Given the description of an element on the screen output the (x, y) to click on. 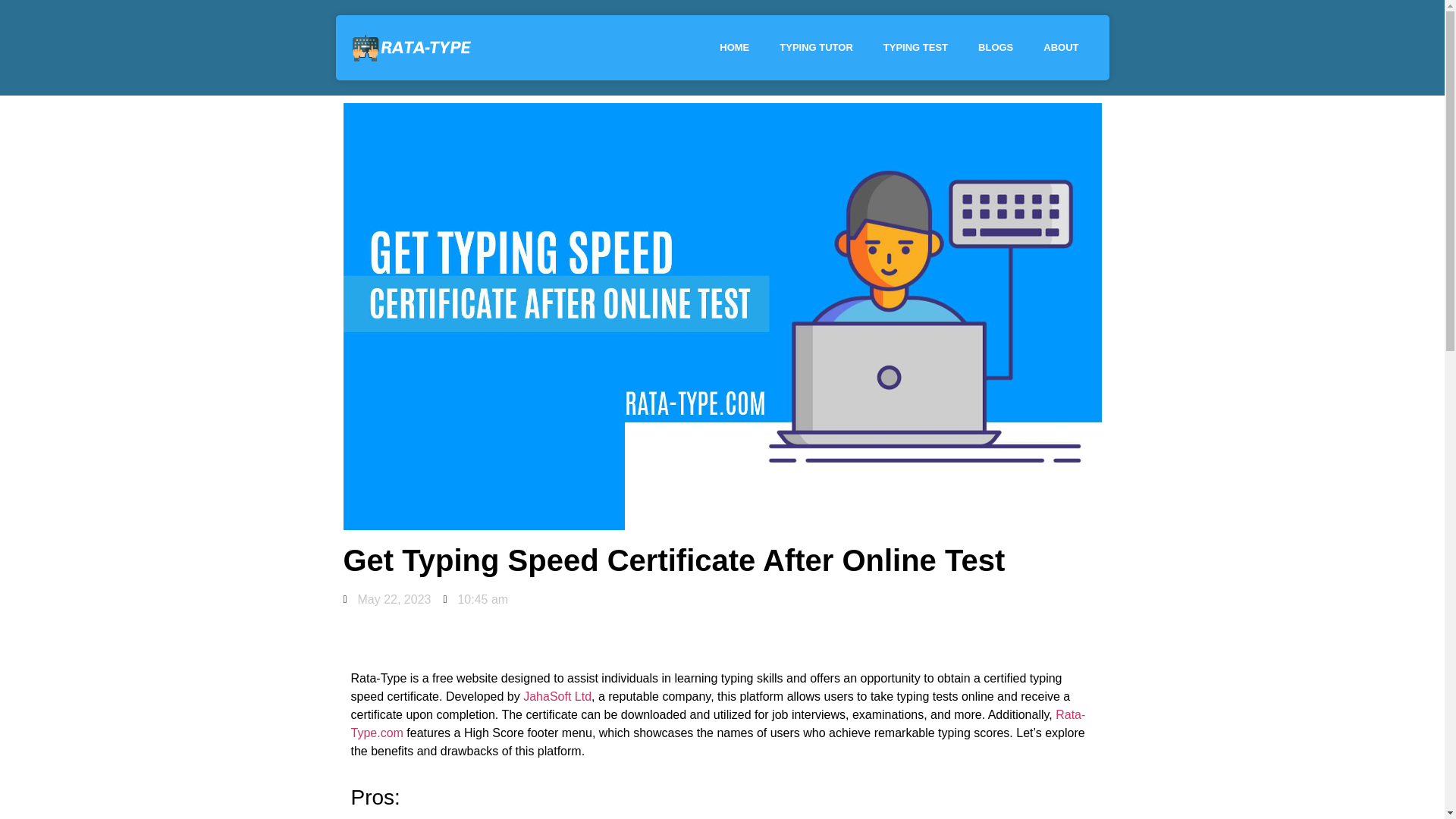
JahaSoft Ltd (556, 696)
TYPING TUTOR (815, 47)
BLOGS (994, 47)
HOME (734, 47)
May 22, 2023 (386, 598)
JahaSoft Ltd (556, 696)
ABOUT (1060, 47)
Rata-Type.com (717, 723)
TYPING TEST (914, 47)
